Given the description of an element on the screen output the (x, y) to click on. 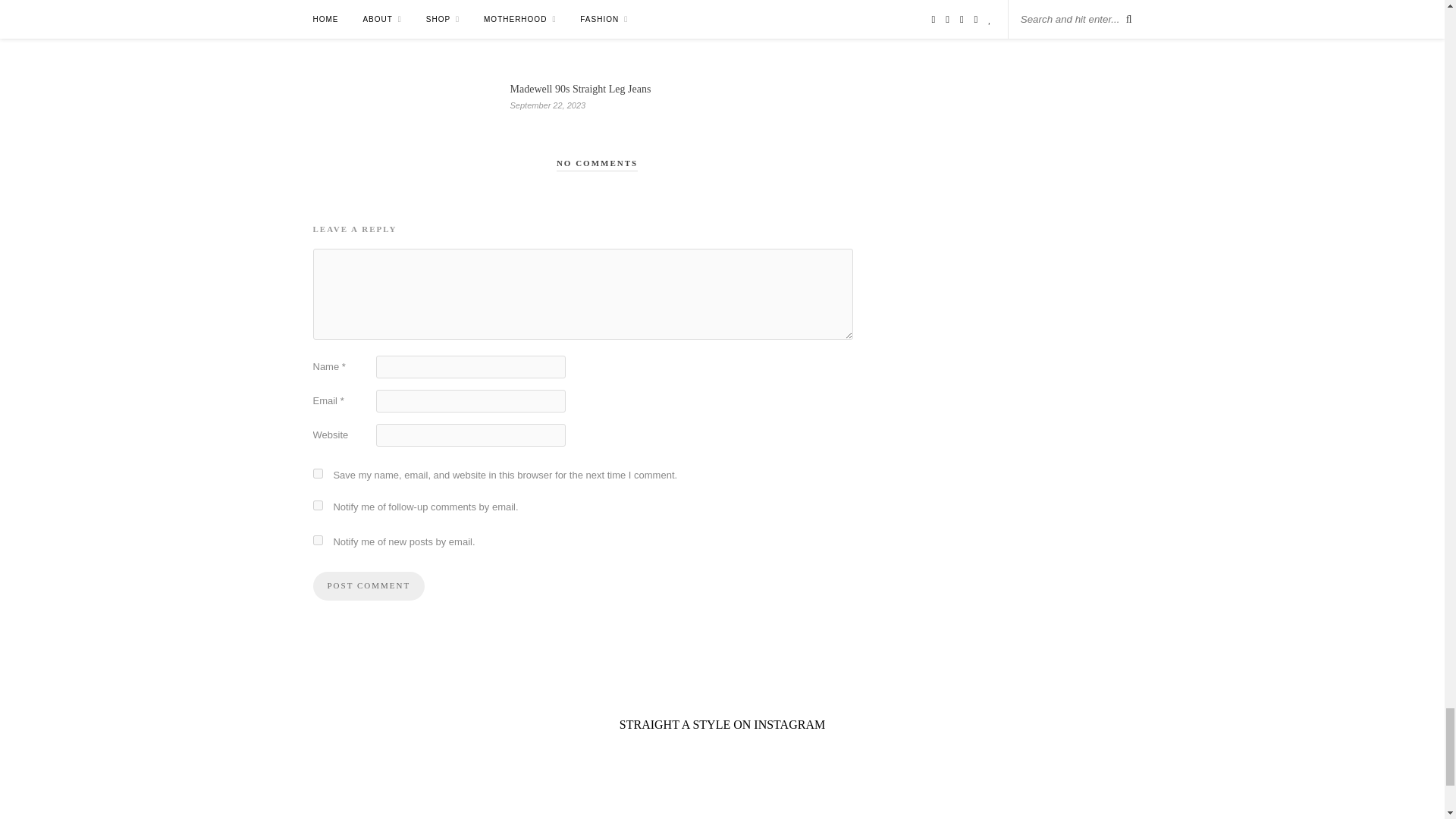
subscribe (317, 540)
Post Comment (369, 585)
yes (317, 473)
subscribe (317, 505)
